Given the description of an element on the screen output the (x, y) to click on. 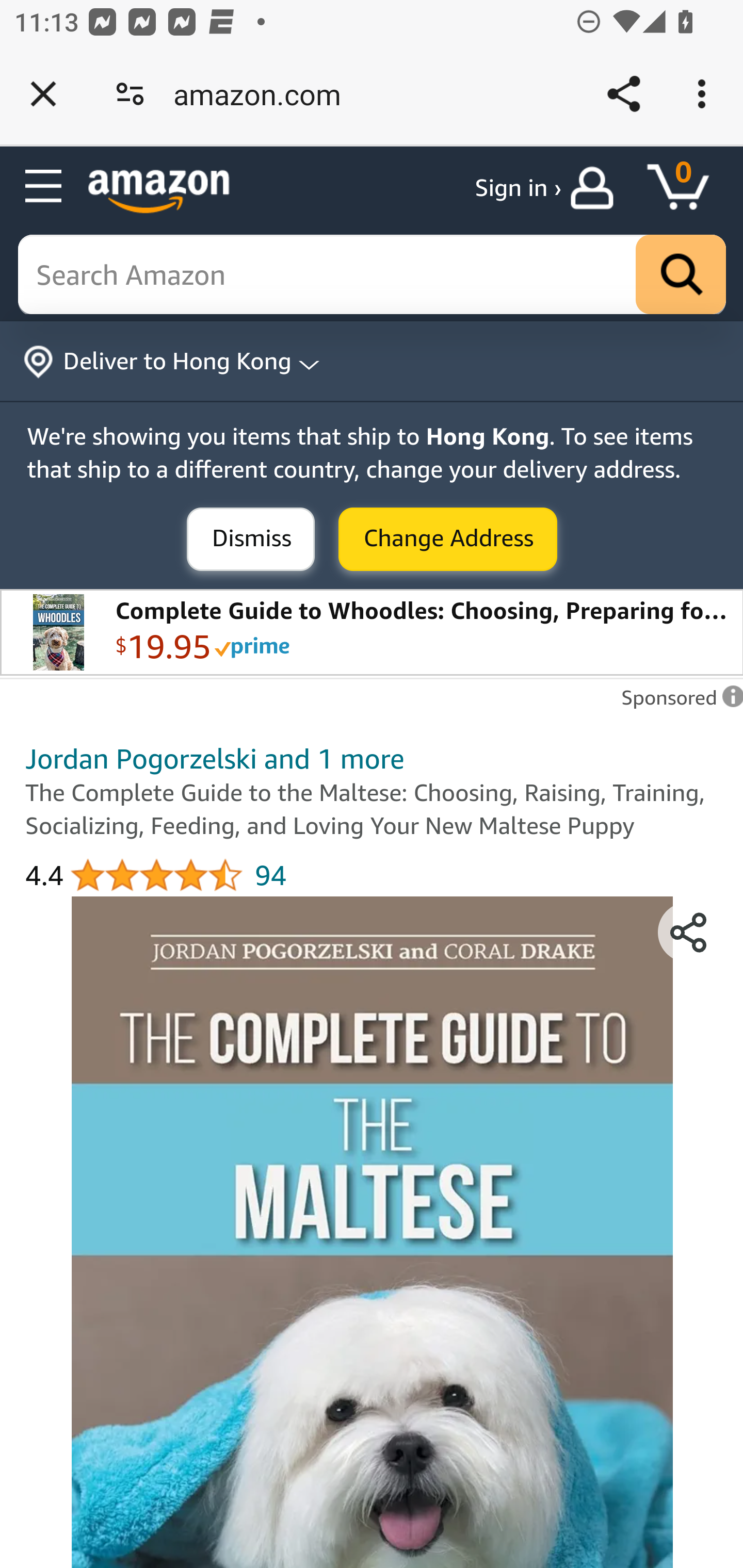
Close tab (43, 93)
Share (623, 93)
Customize and control Google Chrome (705, 93)
Connection is secure (129, 93)
amazon.com (264, 93)
Open Menu (44, 187)
Sign in › (518, 188)
your account (596, 188)
Cart 0 (687, 188)
Amazon (158, 191)
Clear search keywords (372, 275)
Go (681, 275)
Submit (250, 539)
Submit (447, 539)
